Given the description of an element on the screen output the (x, y) to click on. 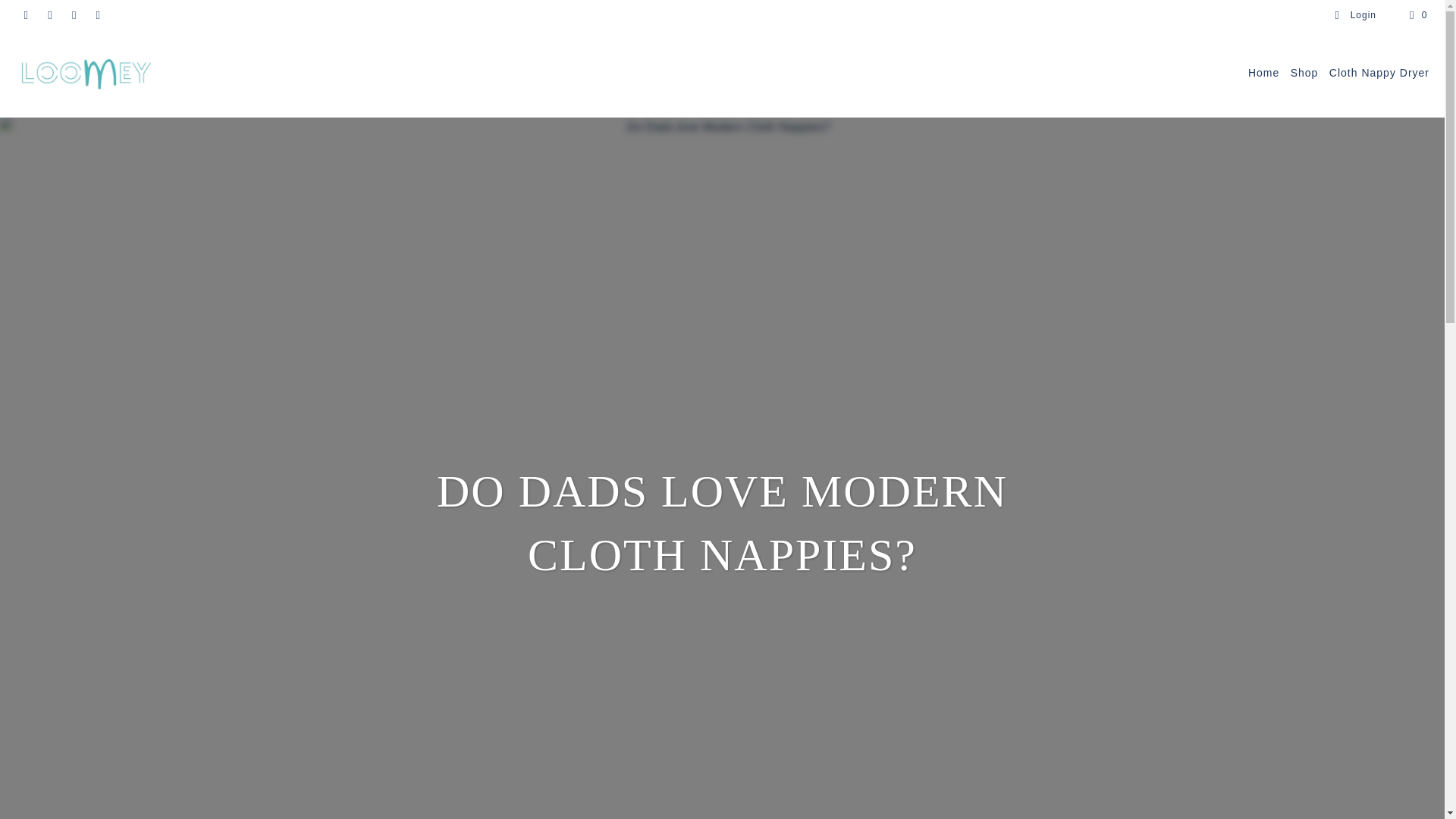
LoomeyAU on Pinterest (49, 14)
LoomeyAU on Facebook (25, 14)
Login (1355, 15)
LoomeyAU (84, 73)
LoomeyAU on Instagram (73, 14)
My Account  (1355, 15)
Email LoomeyAU (96, 14)
Cloth Nappy Dryer (1379, 73)
